Given the description of an element on the screen output the (x, y) to click on. 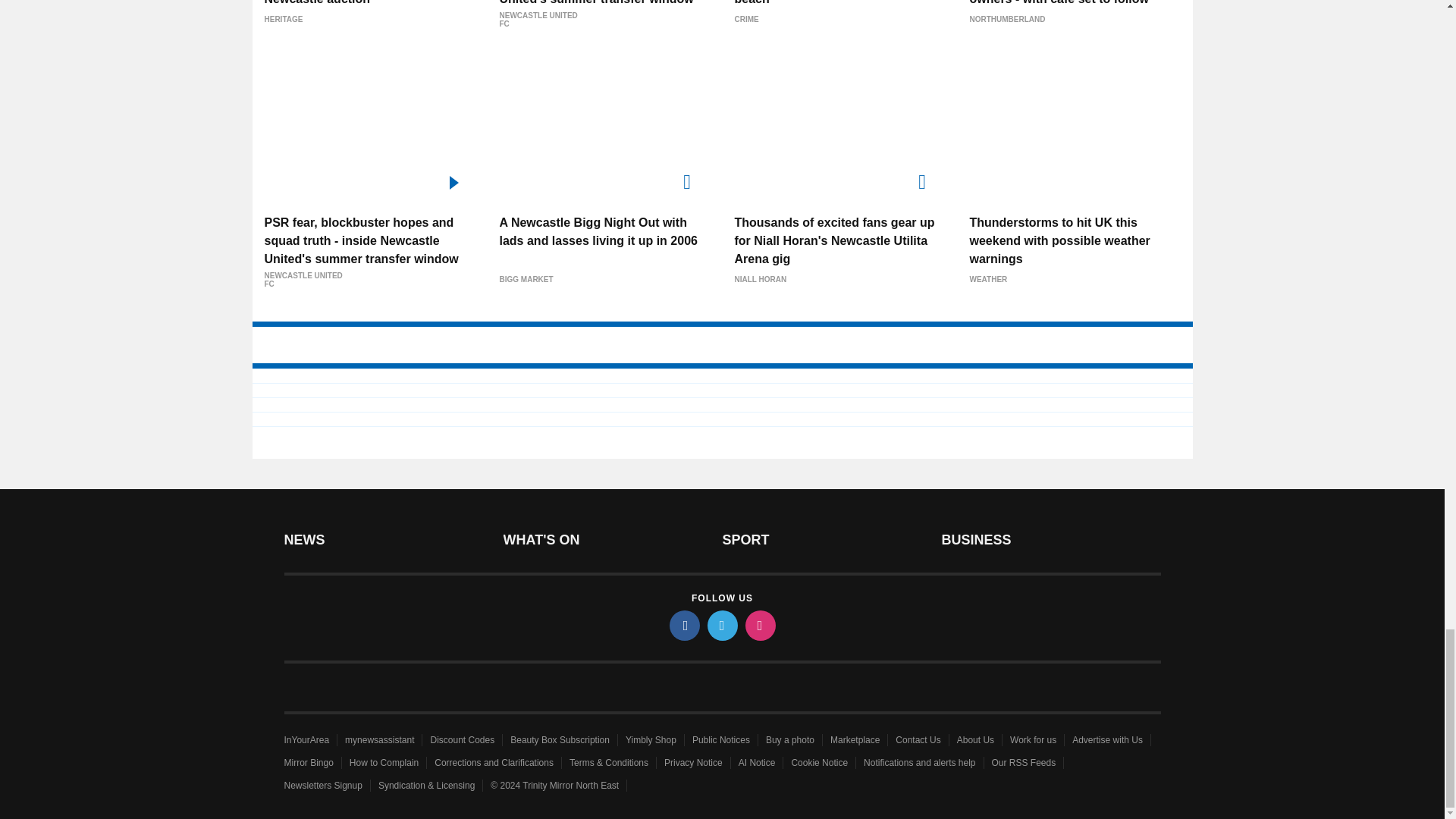
instagram (759, 625)
facebook (683, 625)
twitter (721, 625)
